Given the description of an element on the screen output the (x, y) to click on. 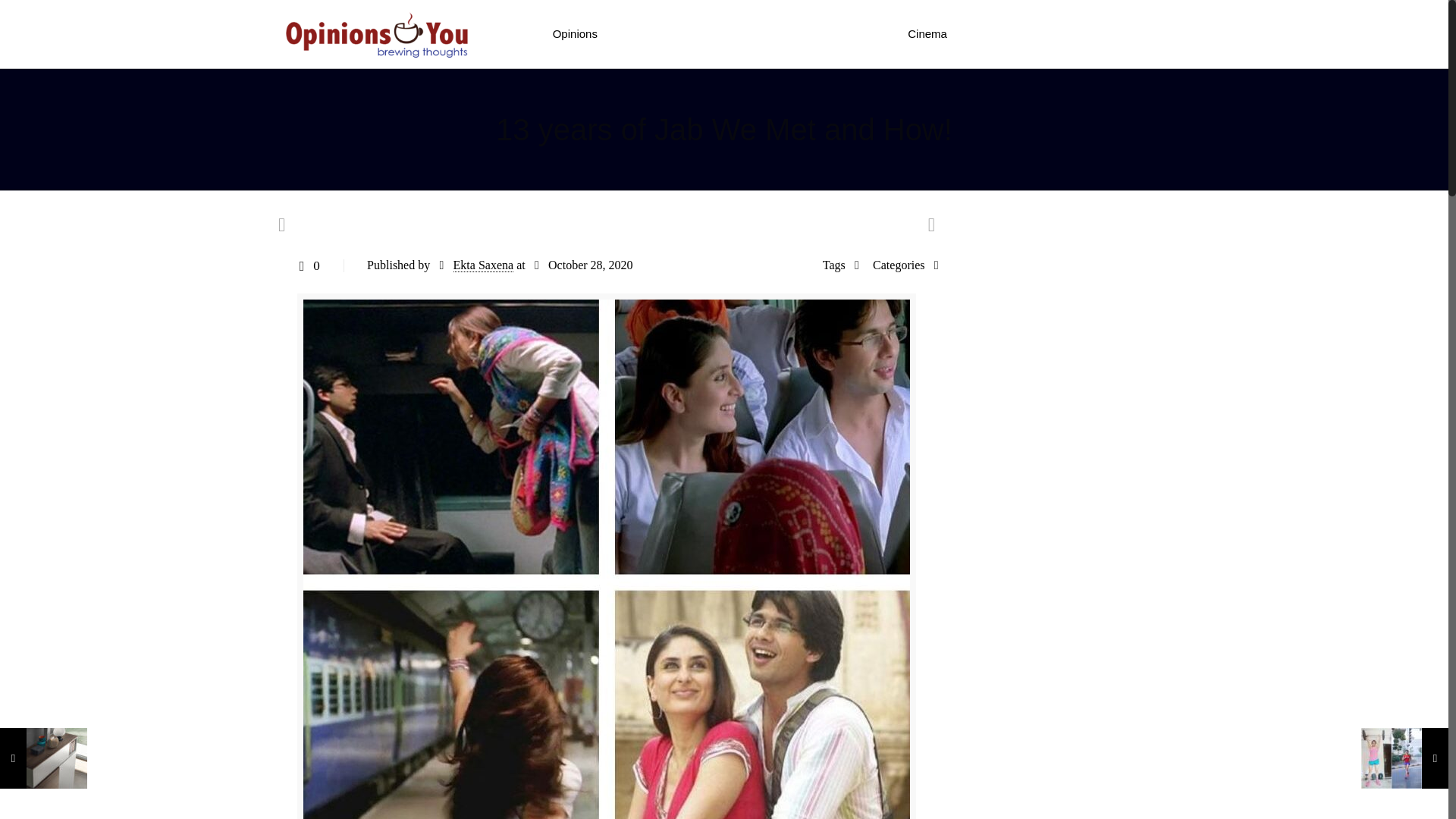
Opinions And You (376, 33)
Slice of Life (1068, 33)
Creating A Buzz (667, 33)
0 (306, 265)
Cinema (927, 33)
Ekta Saxena (482, 264)
Travel (992, 33)
Opinions (574, 33)
Videos (1145, 33)
Books (754, 33)
